Given the description of an element on the screen output the (x, y) to click on. 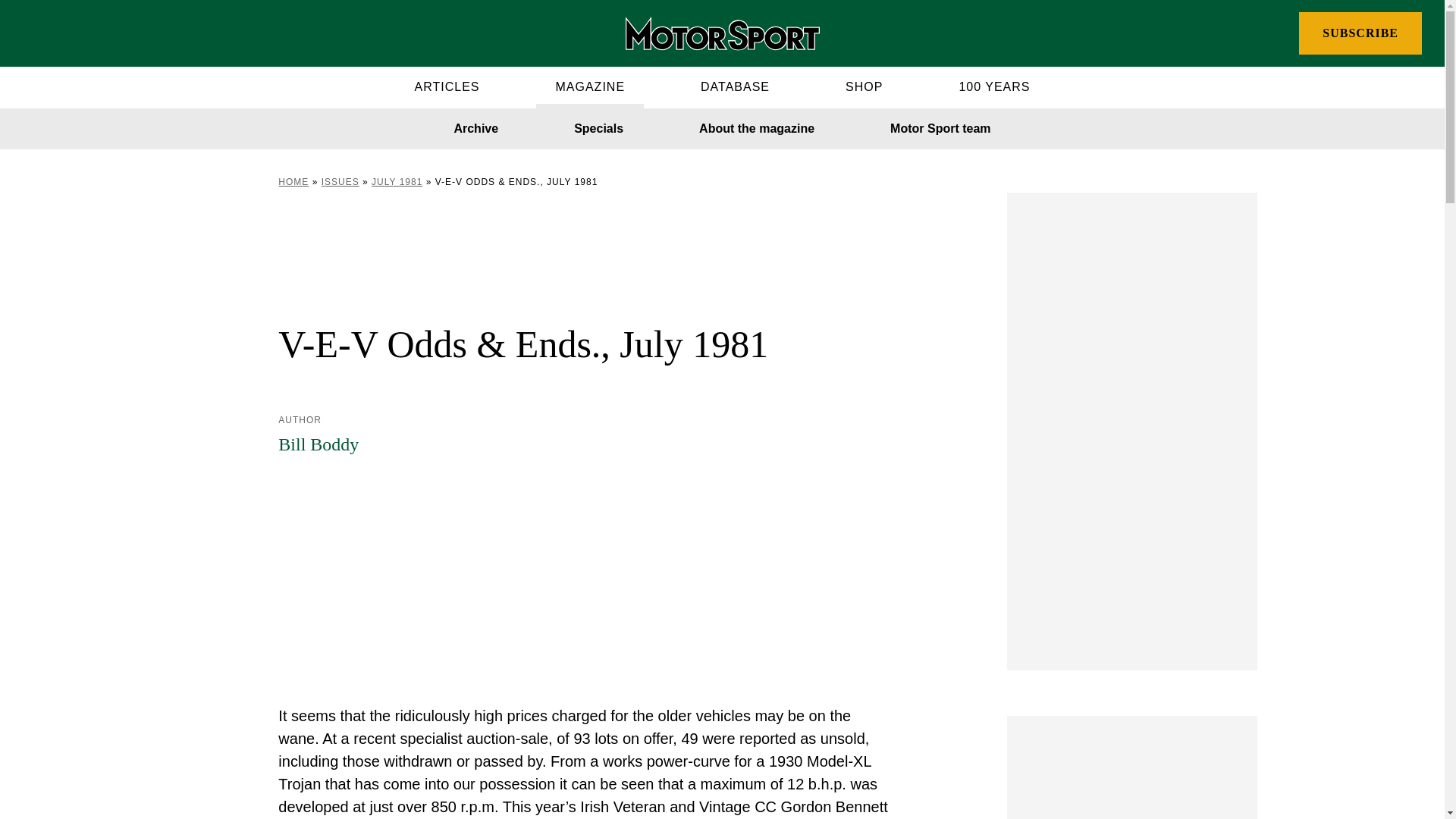
MAGAZINE (589, 86)
ARTICLES (447, 86)
SUBSCRIBE (1360, 33)
